Given the description of an element on the screen output the (x, y) to click on. 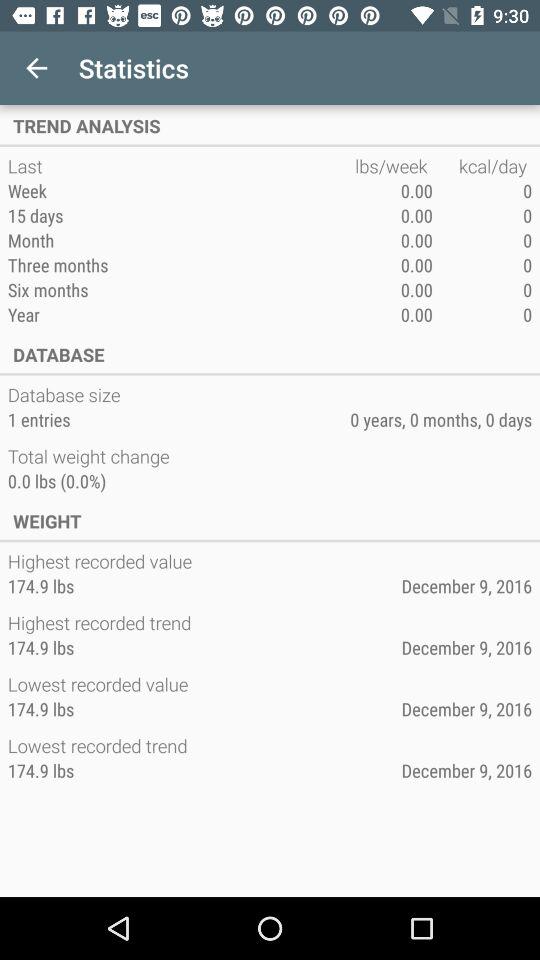
select the item below the month icon (181, 264)
